Given the description of an element on the screen output the (x, y) to click on. 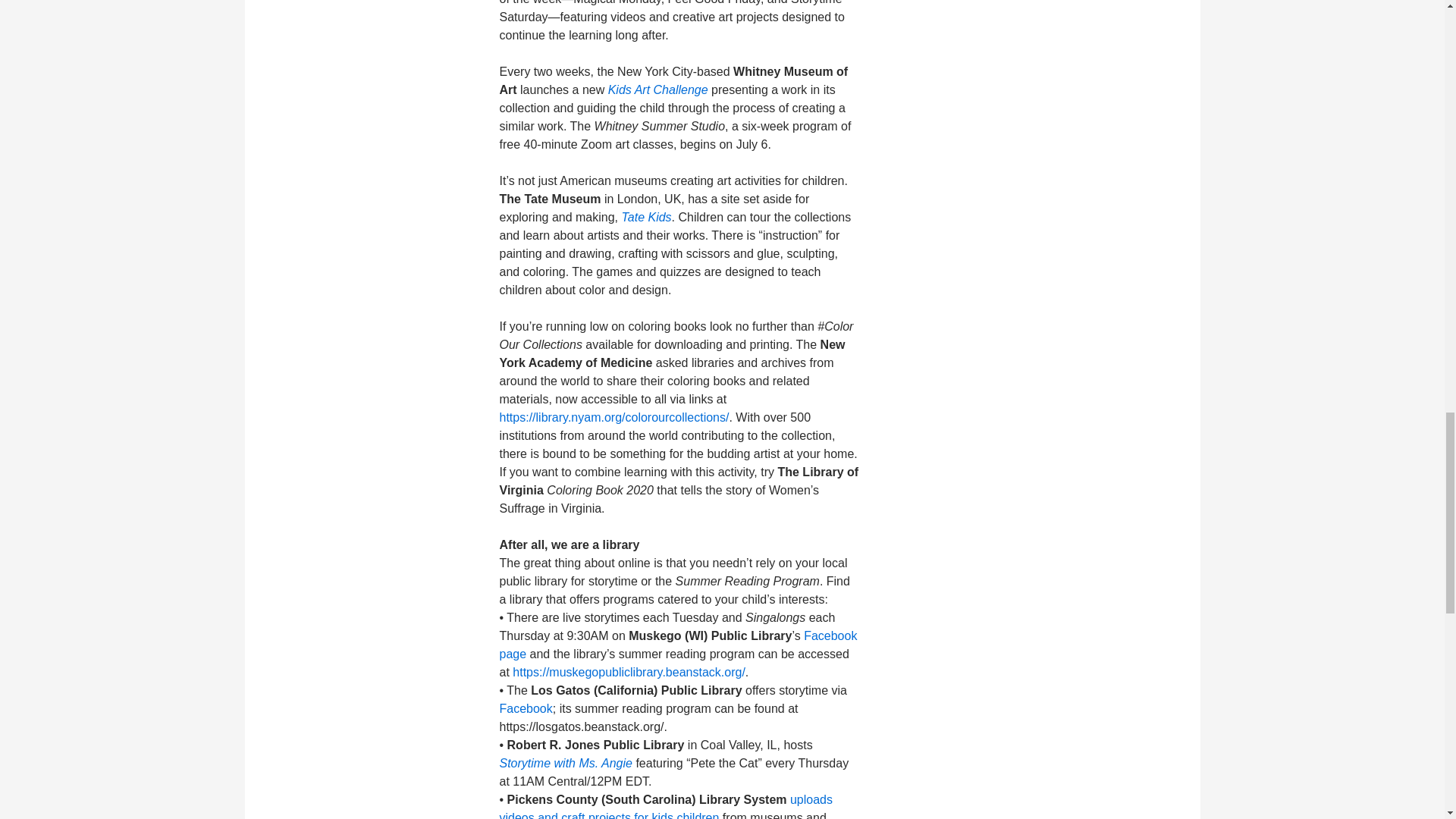
Facebook page (678, 644)
Facebook (525, 707)
uploads videos and craft projects for kids children (665, 806)
Storytime with Ms. Angie (565, 762)
Kids Art Challenge (657, 89)
Tate Kids (646, 216)
